Given the description of an element on the screen output the (x, y) to click on. 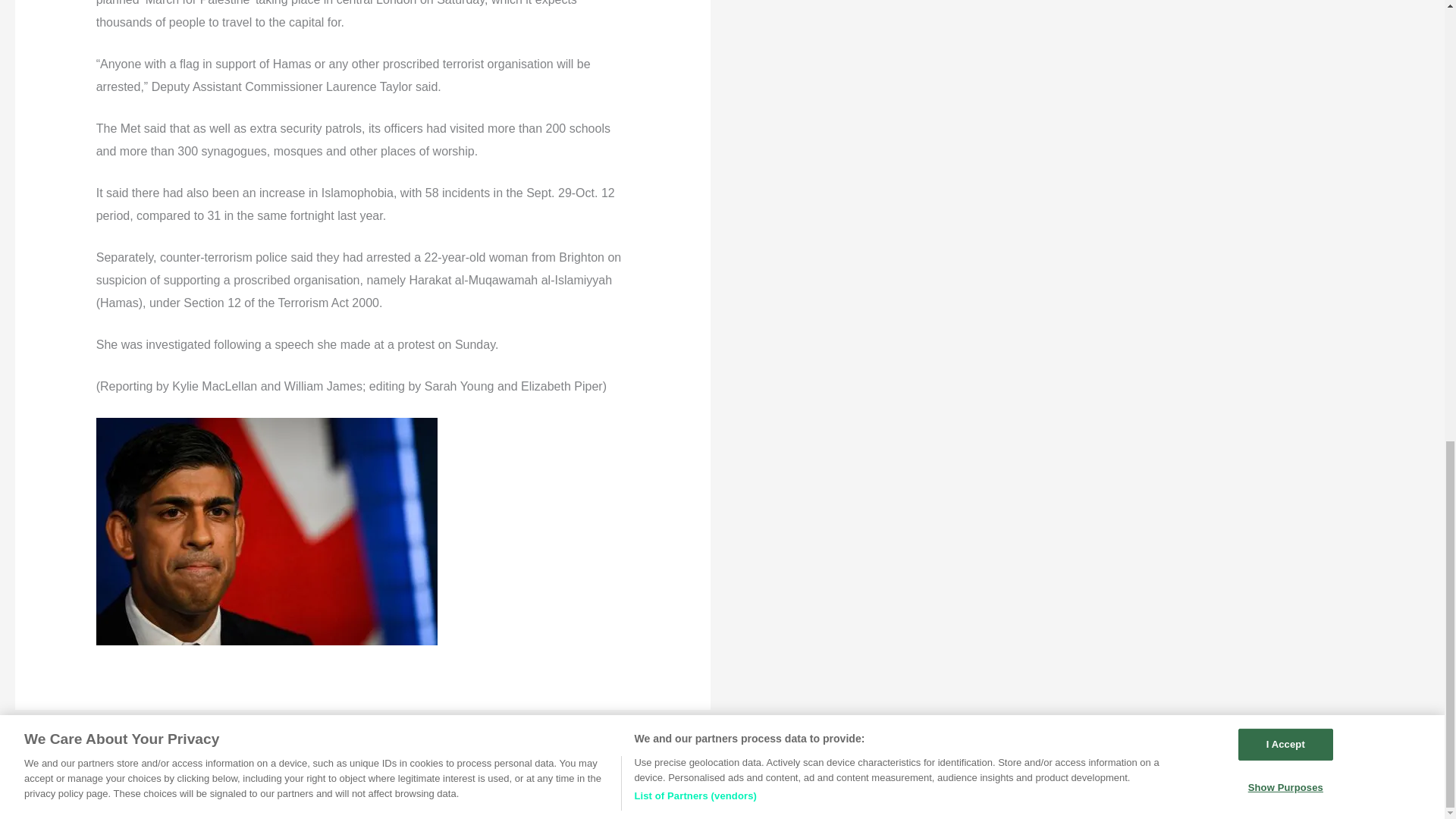
Terms of use (818, 788)
